Given the description of an element on the screen output the (x, y) to click on. 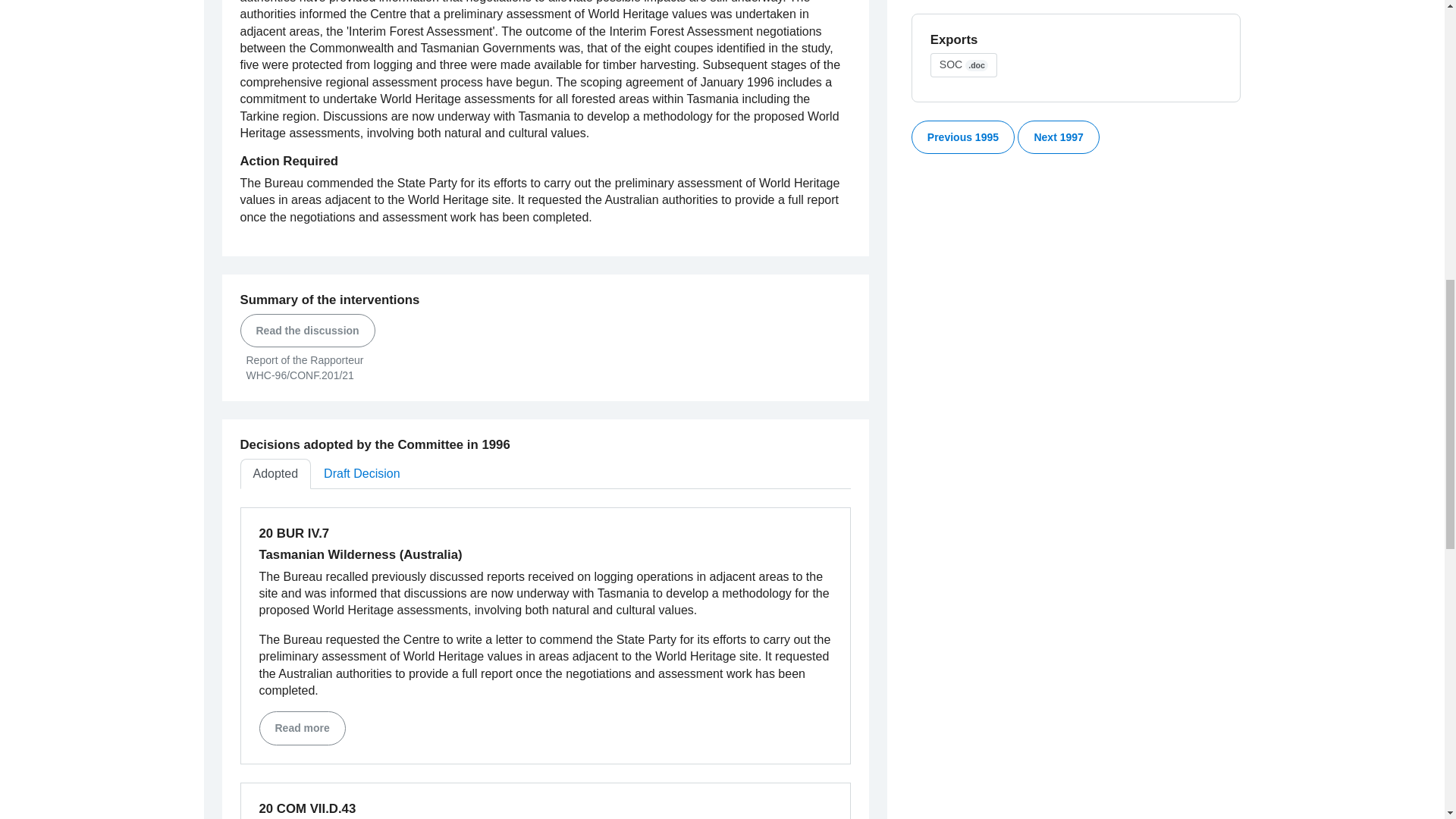
Read the discussion (307, 330)
